Given the description of an element on the screen output the (x, y) to click on. 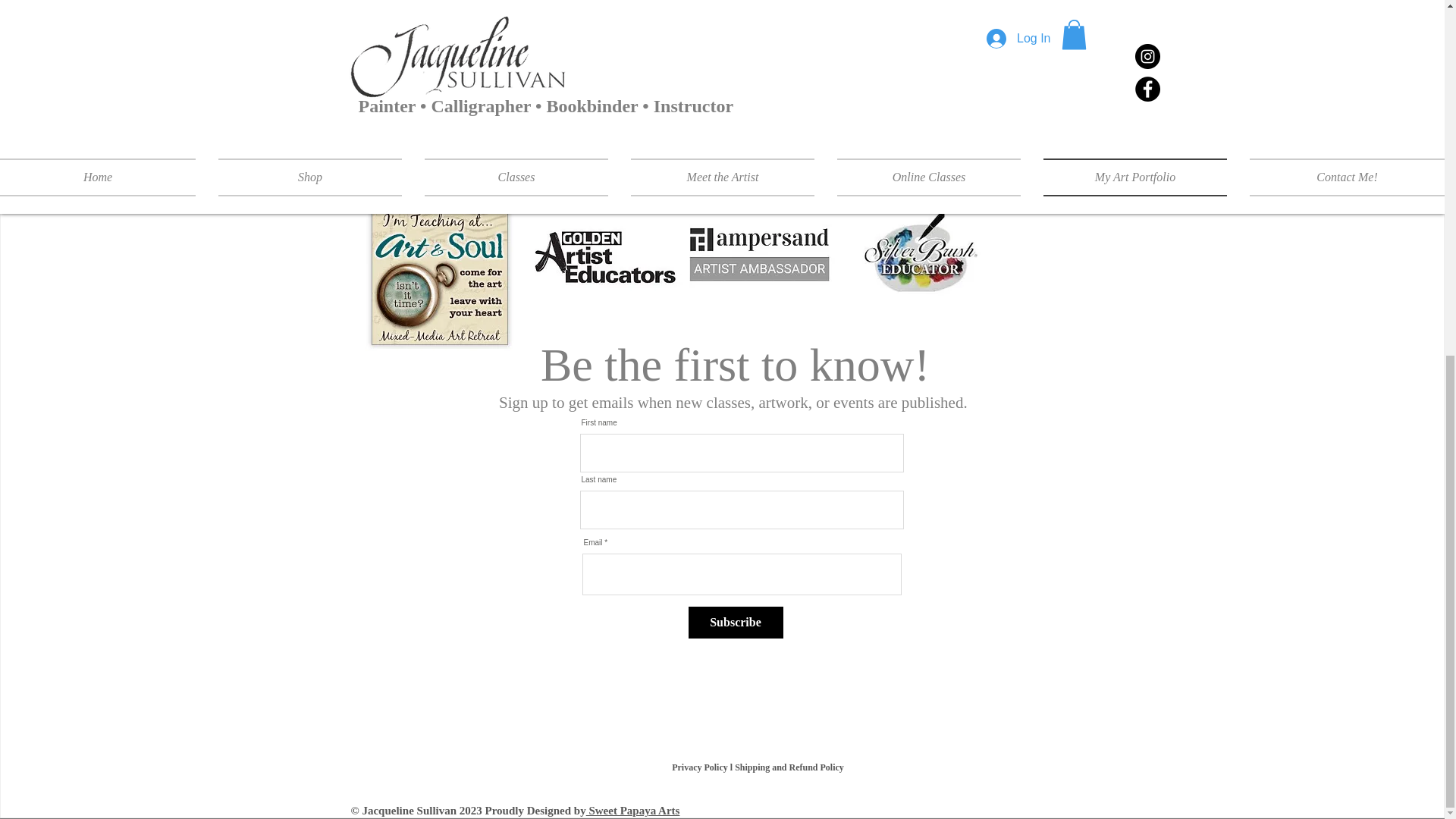
Shipping and Refund Policy  (790, 767)
Logo Design Work (722, 88)
Subscribe (735, 622)
Privacy Policy (700, 767)
Sweet Papaya Arts (632, 810)
Calligraphic Works (470, 88)
